Given the description of an element on the screen output the (x, y) to click on. 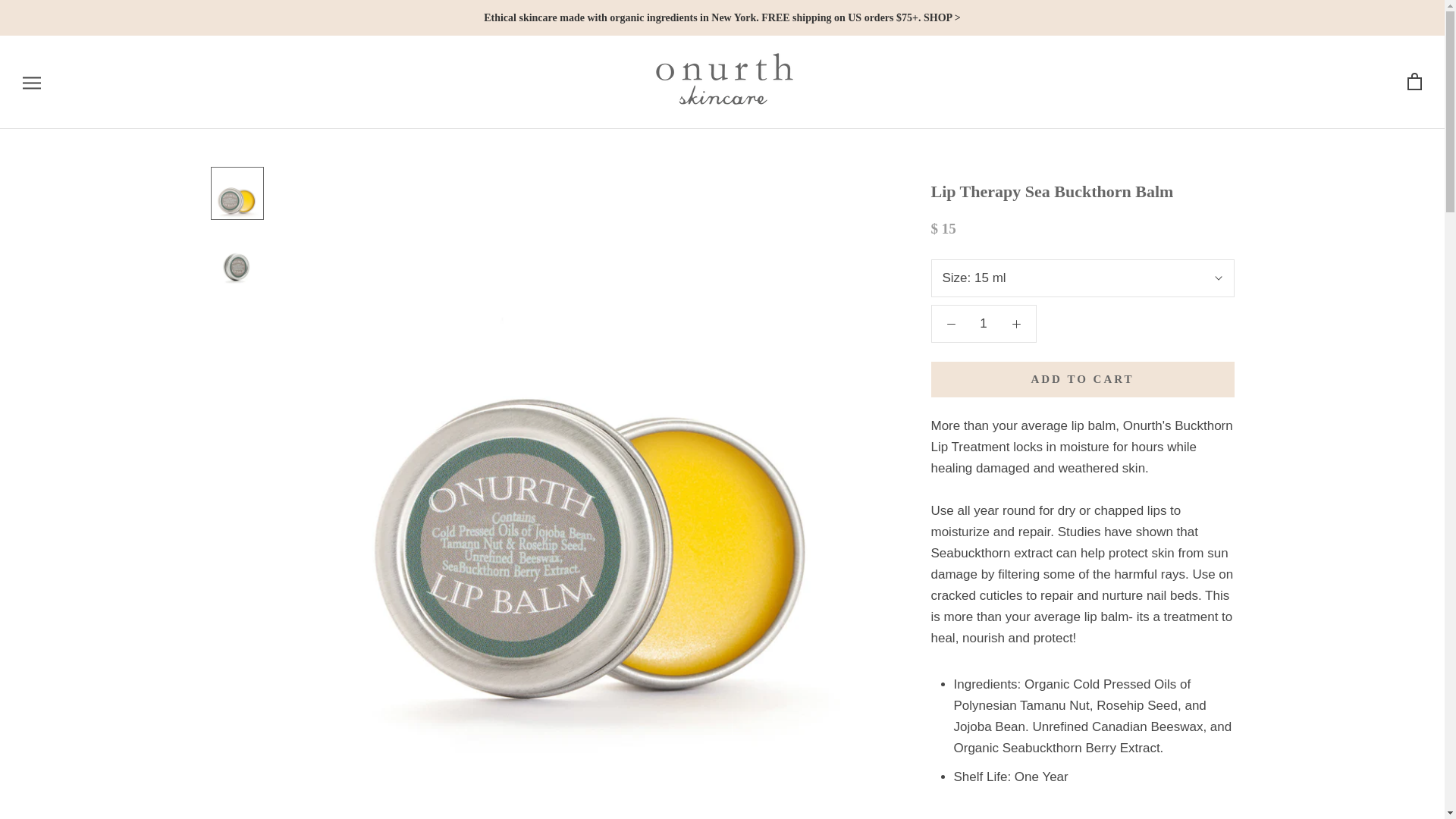
1 (984, 323)
Size: 15 ml (1082, 278)
ADD TO CART (1082, 379)
